Given the description of an element on the screen output the (x, y) to click on. 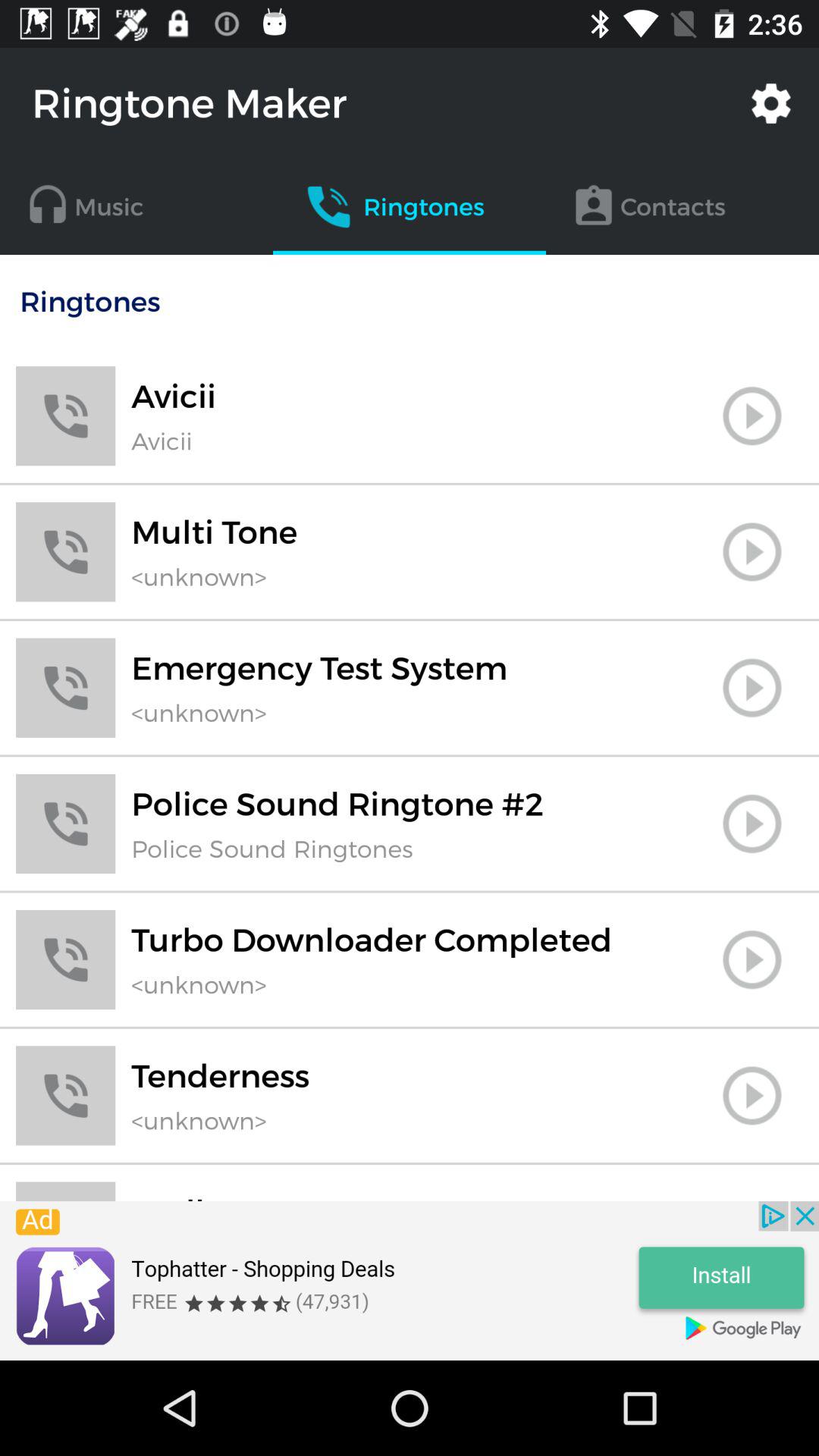
play music (752, 551)
